Given the description of an element on the screen output the (x, y) to click on. 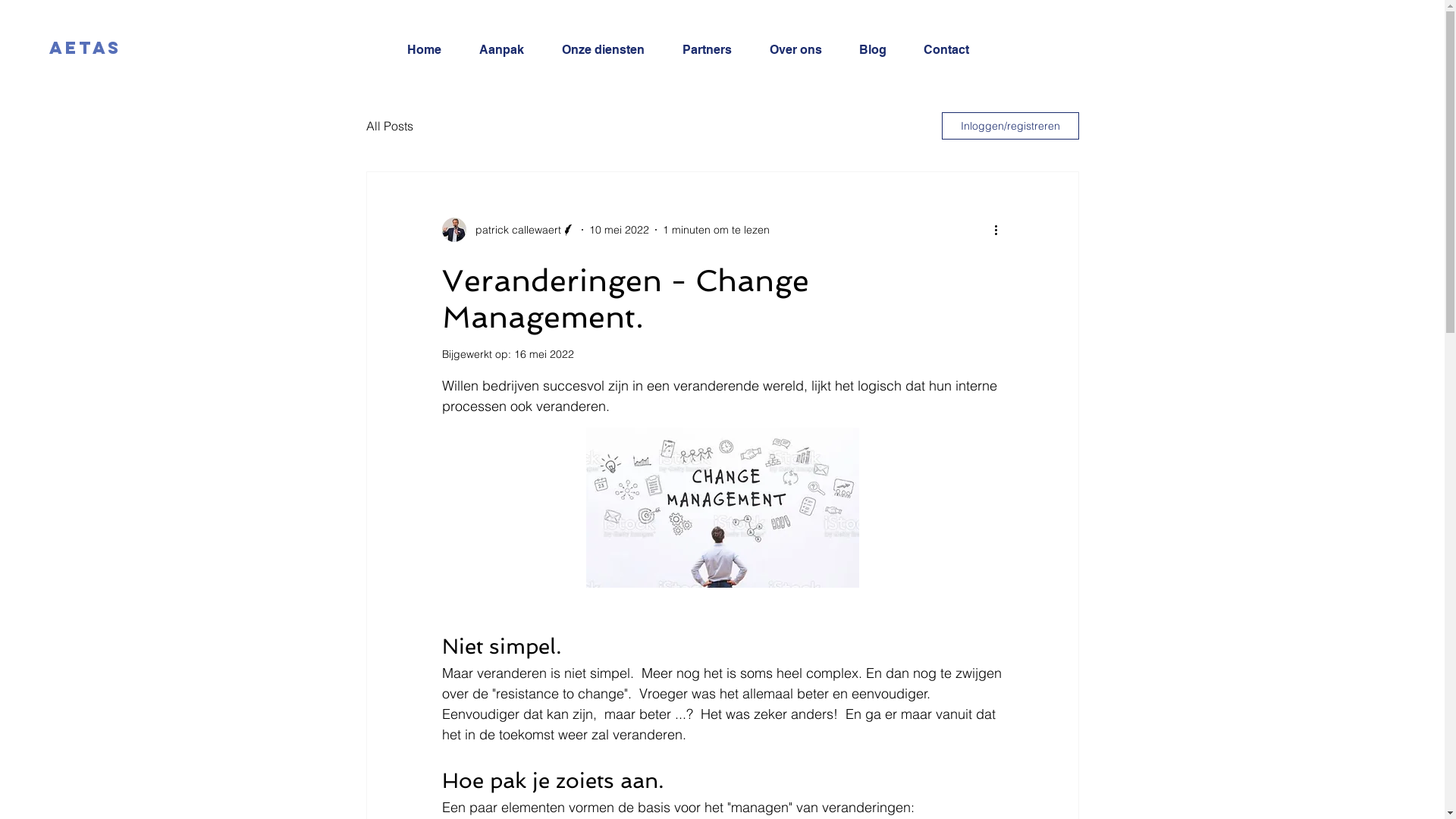
Partners Element type: text (713, 50)
Inloggen/registreren Element type: text (1010, 125)
Aanpak Element type: text (508, 50)
All Posts Element type: text (388, 125)
Over ons Element type: text (802, 50)
Aetas Element type: text (84, 47)
Blog Element type: text (879, 50)
Home Element type: text (431, 50)
Contact Element type: text (952, 50)
Onze diensten Element type: text (610, 50)
